Given the description of an element on the screen output the (x, y) to click on. 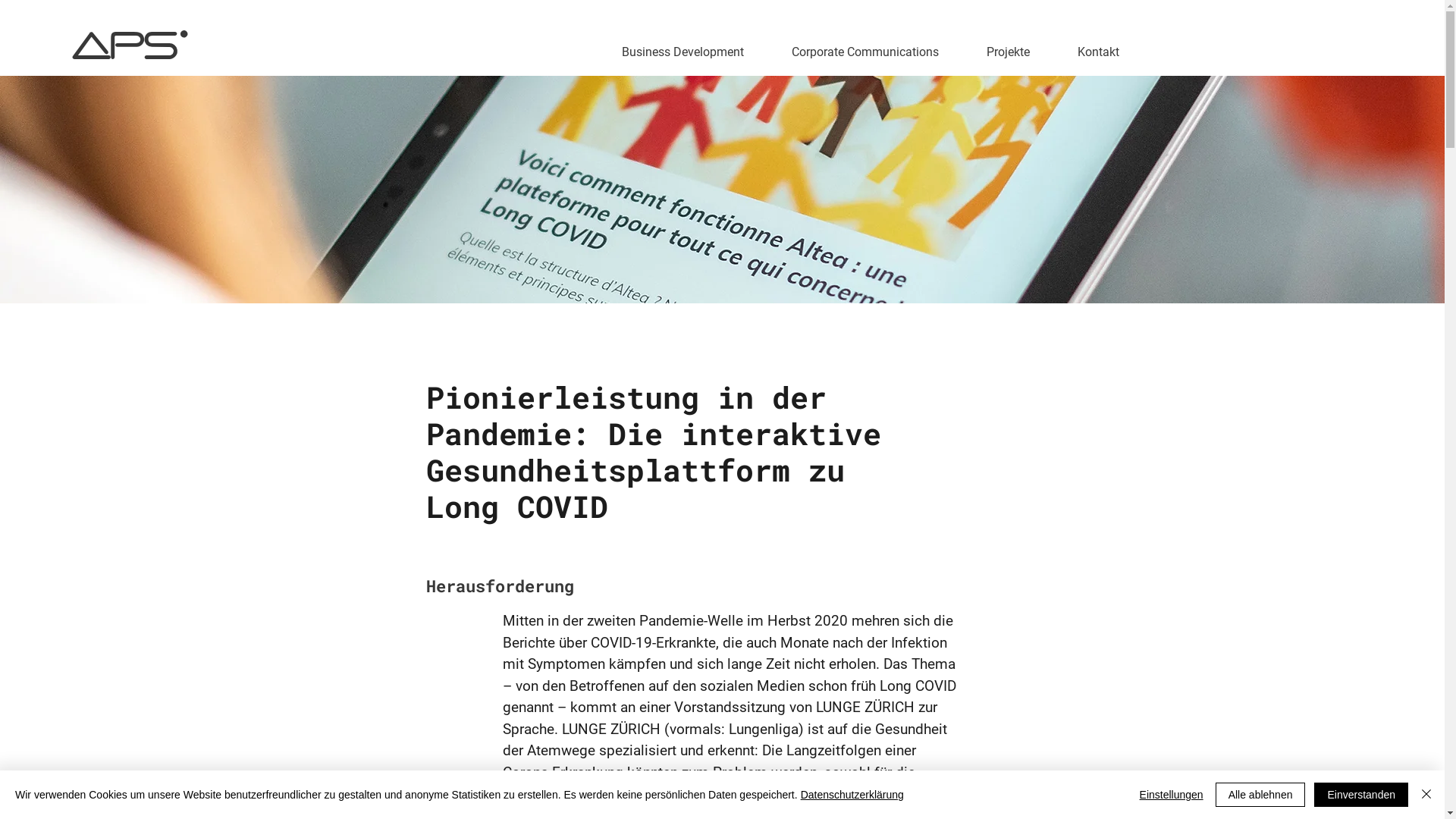
Business Development Element type: text (682, 51)
Alle ablehnen Element type: text (1260, 794)
Einverstanden Element type: text (1361, 794)
Corporate Communications Element type: text (865, 51)
Kontakt Element type: text (1098, 51)
